Given the description of an element on the screen output the (x, y) to click on. 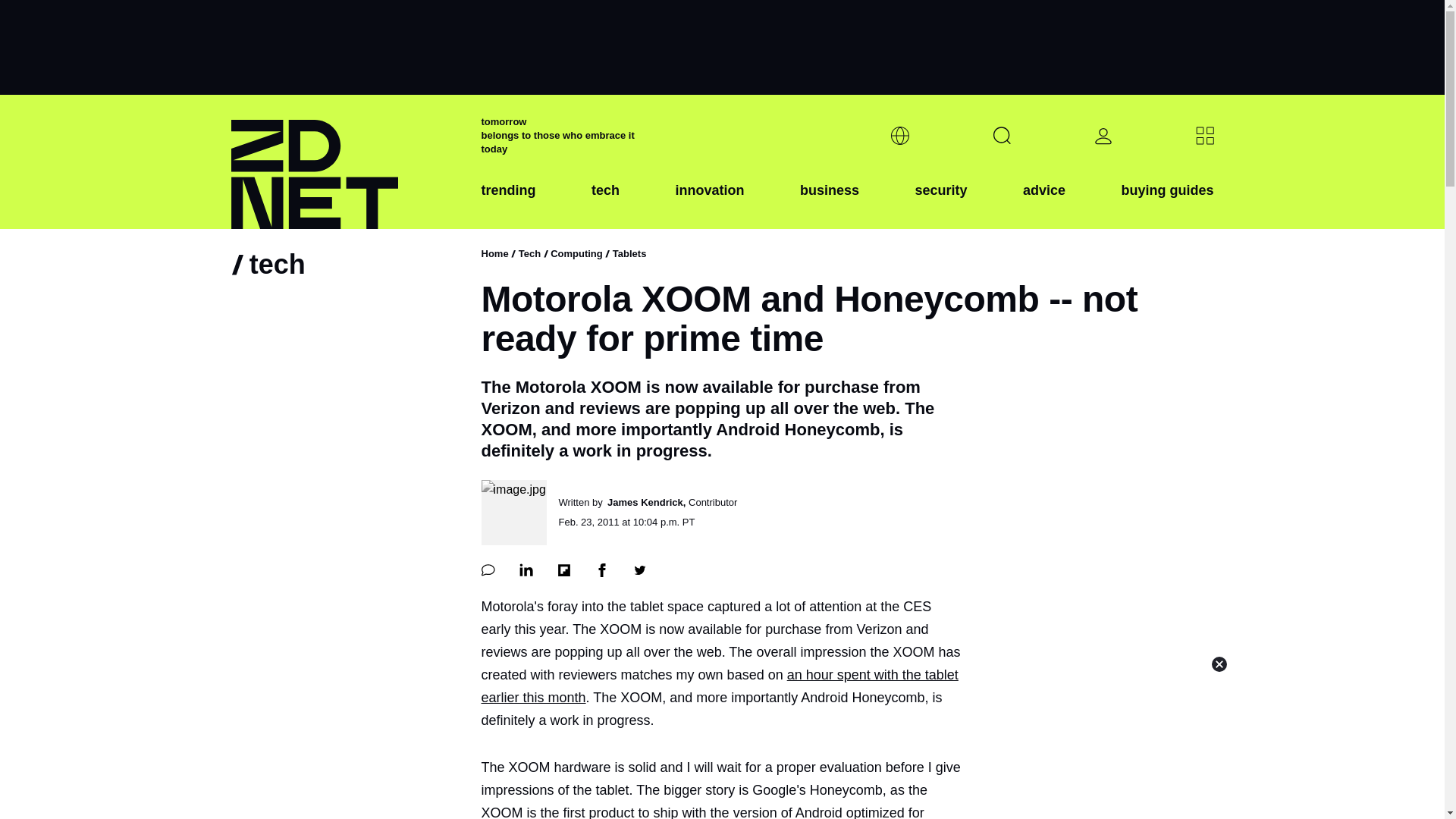
trending (507, 202)
ZDNET (346, 162)
